Given the description of an element on the screen output the (x, y) to click on. 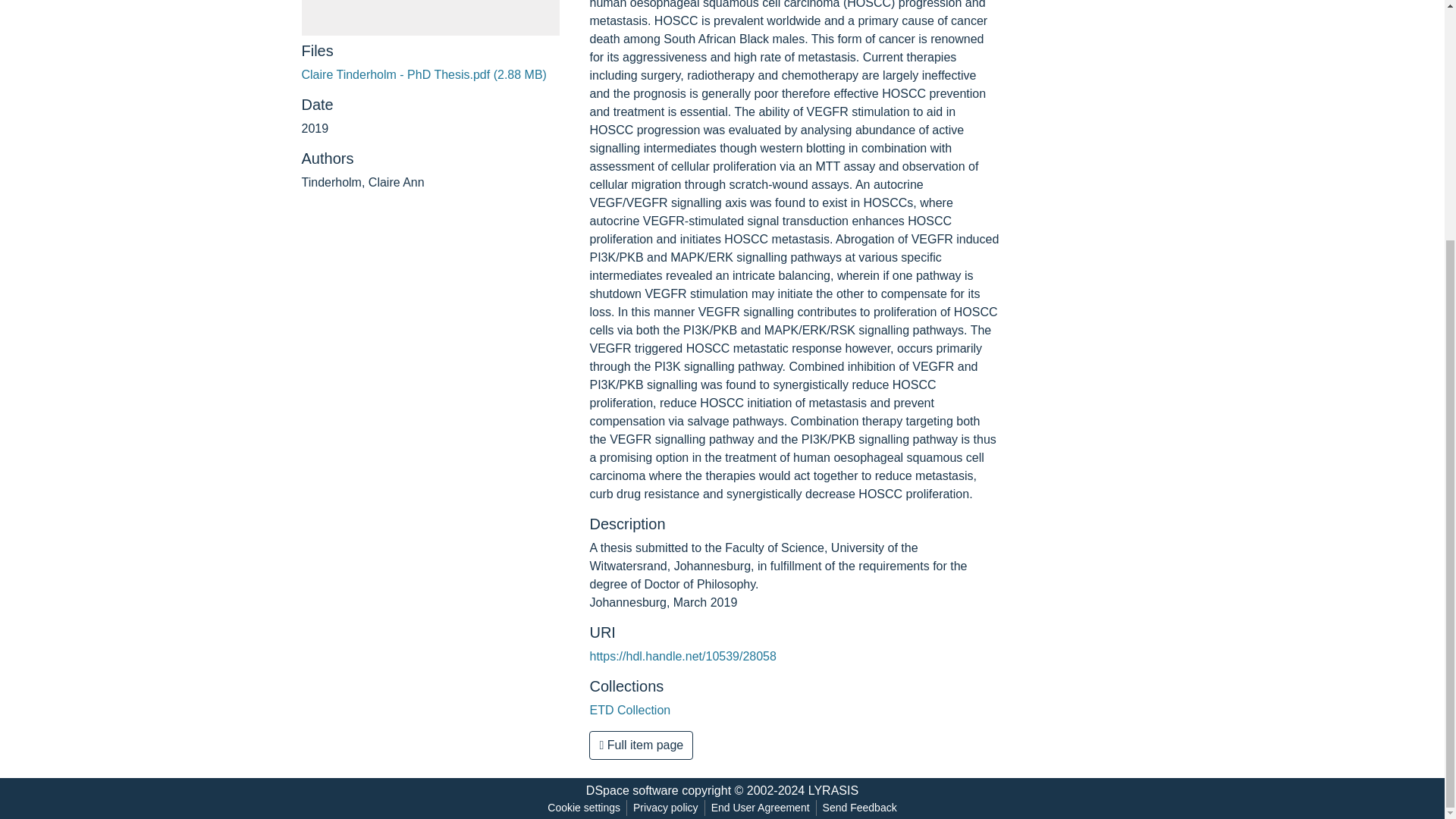
Send Feedback (859, 807)
LYRASIS (833, 789)
Full item page (641, 745)
End User Agreement (759, 807)
Cookie settings (583, 807)
ETD Collection (629, 709)
DSpace software (632, 789)
Privacy policy (665, 807)
